Given the description of an element on the screen output the (x, y) to click on. 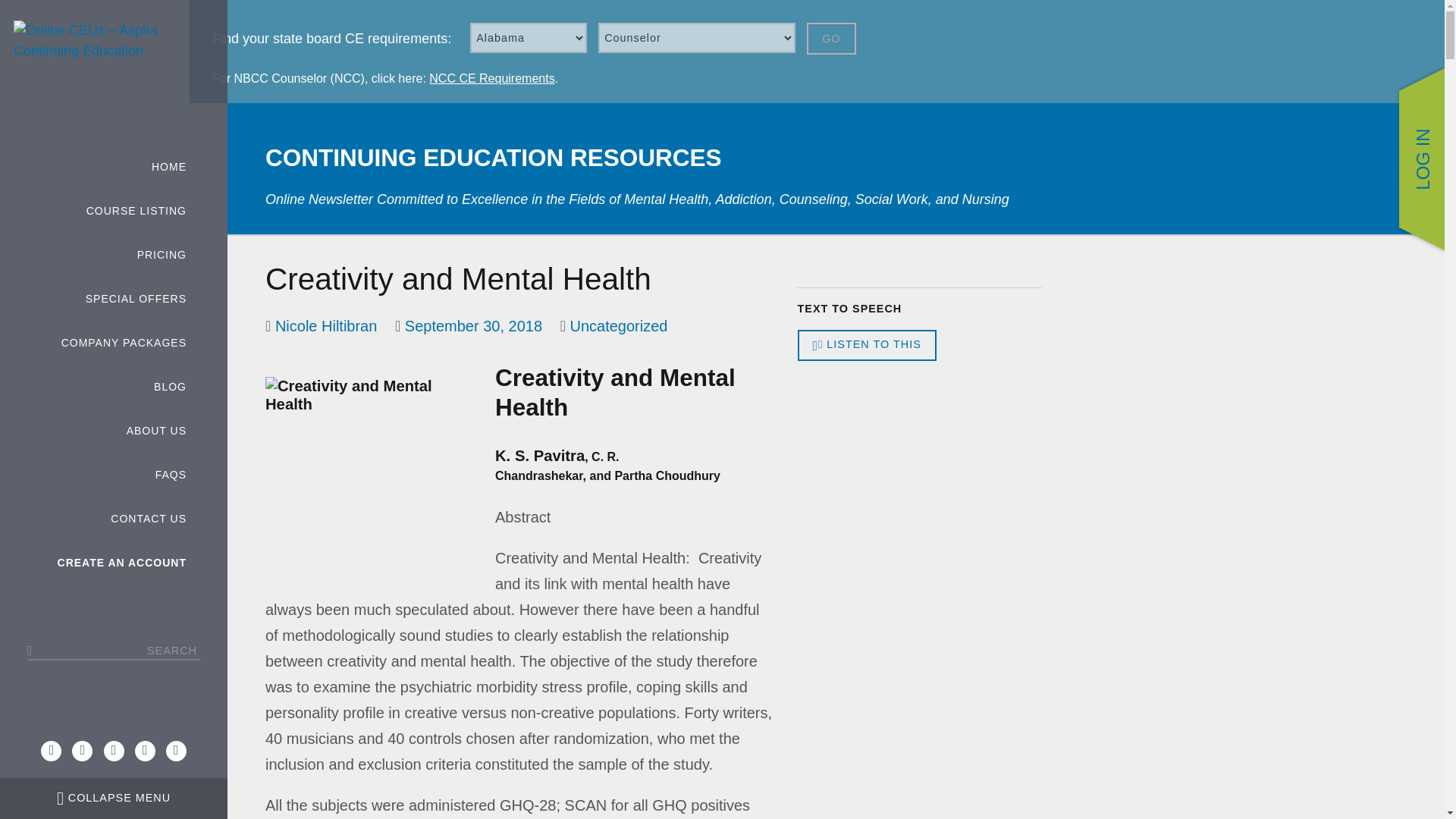
COURSE LISTING (113, 211)
FAQS (113, 475)
CREATE AN ACCOUNT (113, 563)
SPECIAL OFFERS (113, 299)
BLOG (113, 387)
Search for: (113, 650)
CONTACT US (113, 519)
PRICING (113, 255)
HOME (113, 167)
Uncategorized (619, 325)
GO (831, 38)
Search (40, 14)
ABOUT US (113, 431)
NCC CE Requirements (491, 78)
COMPANY PACKAGES (113, 343)
